Given the description of an element on the screen output the (x, y) to click on. 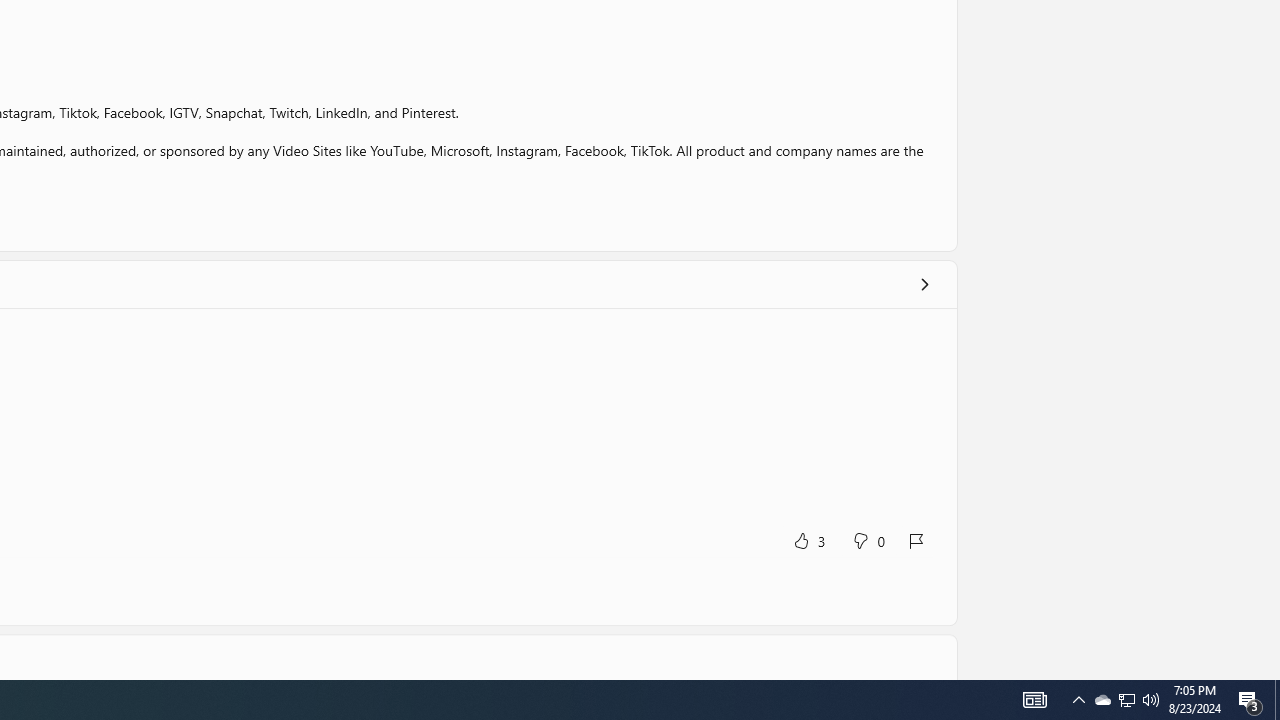
Report review (917, 540)
Show all ratings and reviews (924, 283)
No, this was not helpful. 0 votes. (868, 539)
Yes, this was helpful. 3 votes. (807, 539)
